Given the description of an element on the screen output the (x, y) to click on. 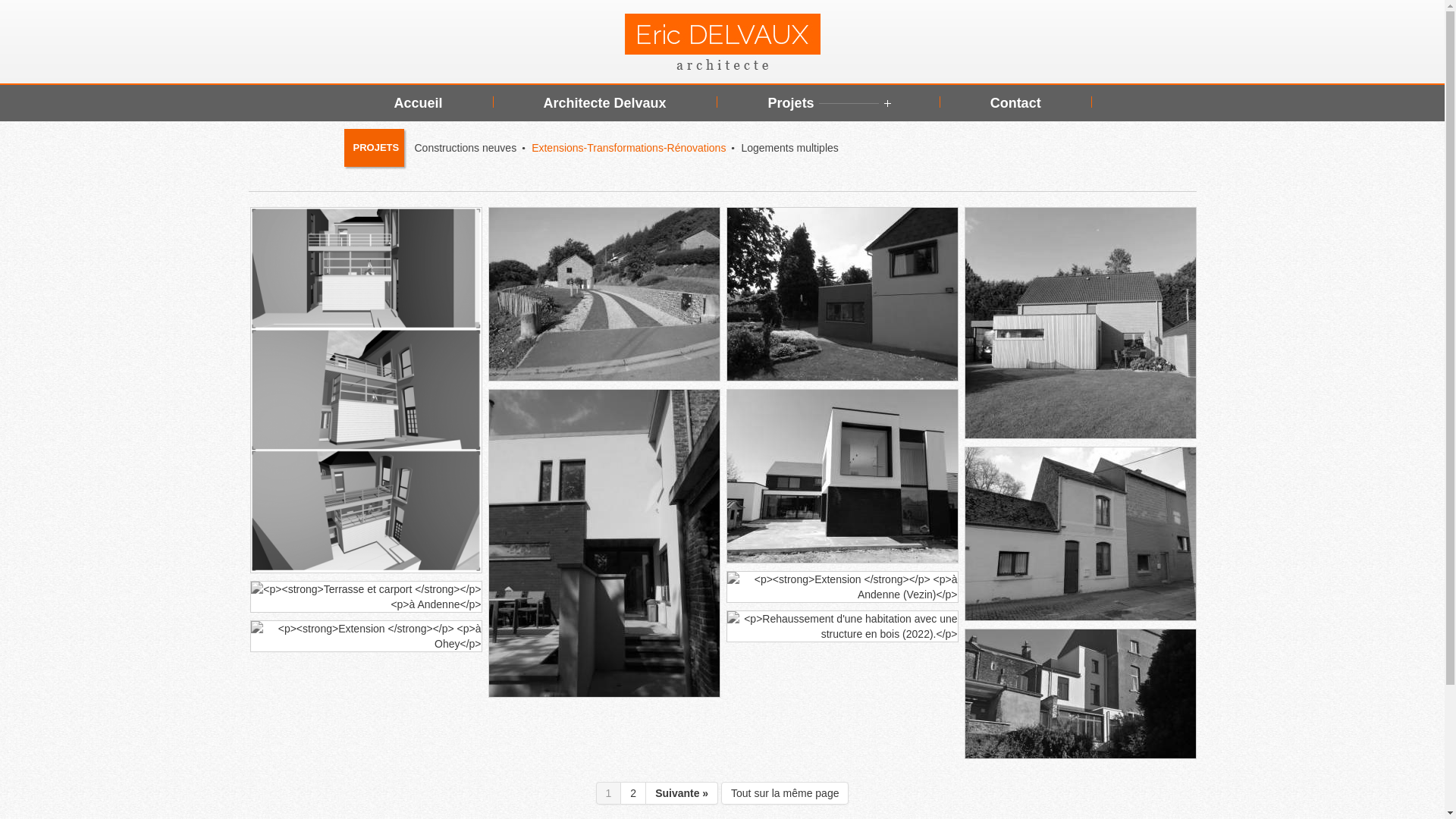
Projets Element type: text (828, 102)
Contact Element type: text (1015, 102)
Constructions neuves Element type: text (465, 147)
2 Element type: text (633, 792)
Architecte Delvaux Element type: text (604, 102)
Architecte Eric Delvaux Element type: hover (722, 41)
Logements multiples Element type: text (788, 147)
Accueil Element type: text (418, 102)
